Given the description of an element on the screen output the (x, y) to click on. 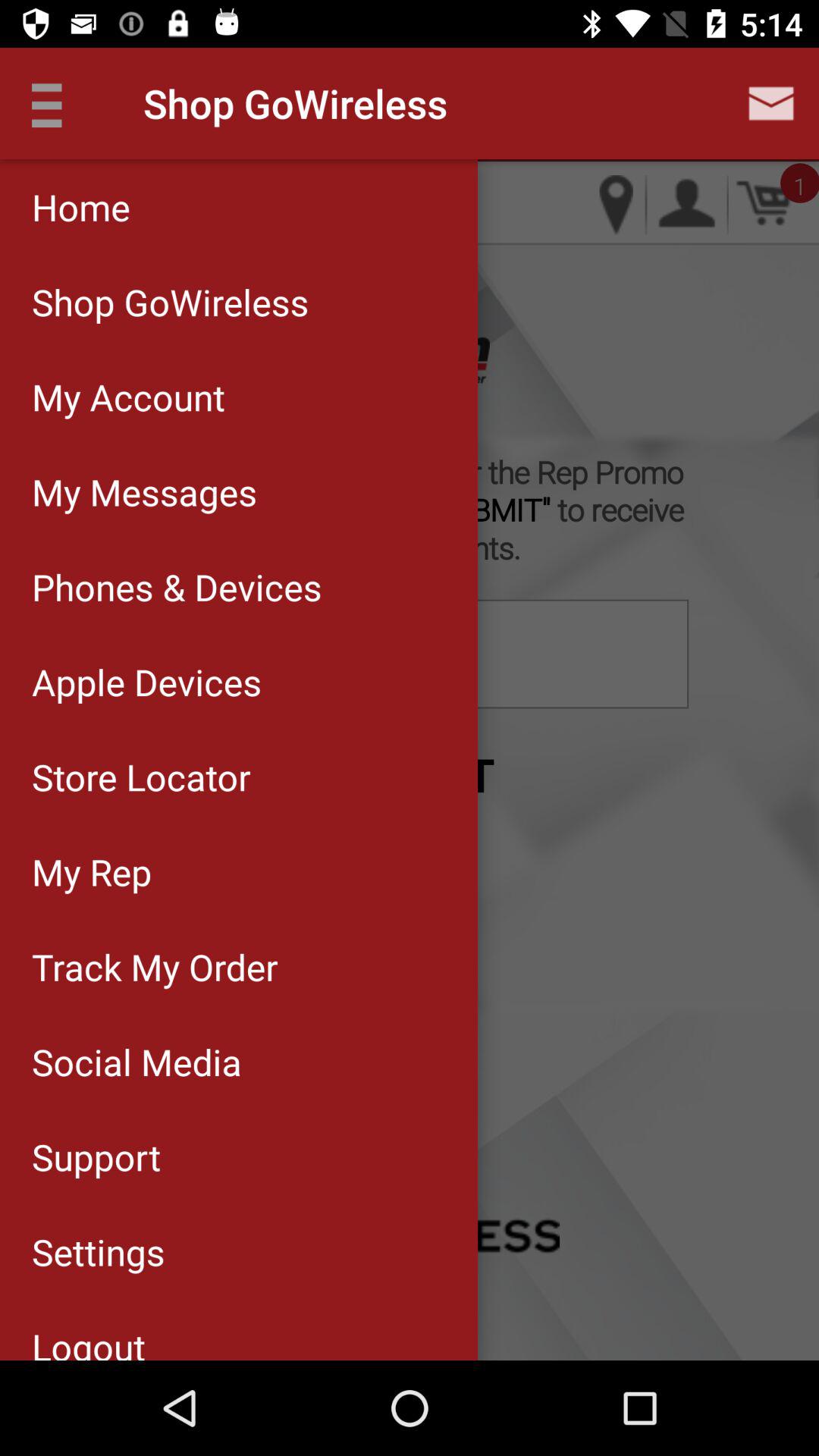
open the icon above phones & devices (238, 491)
